Given the description of an element on the screen output the (x, y) to click on. 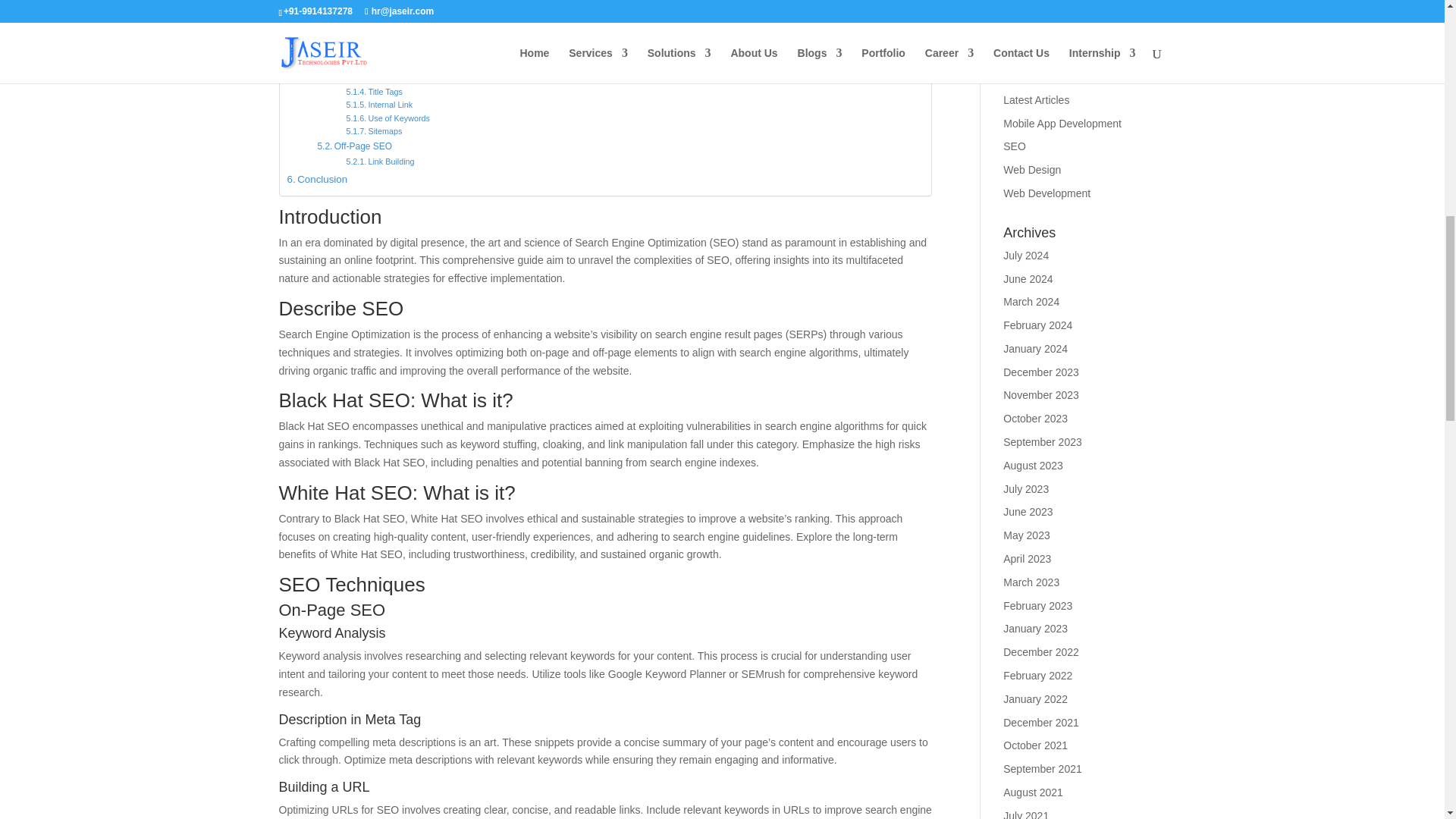
Keyword Analysis (388, 52)
White Hat SEO: What is it? (351, 6)
Internal Link (379, 104)
Building a URL (384, 78)
Description in Meta Tag (399, 65)
Title Tags (374, 91)
On-Page SEO (354, 37)
SEO Techniques (329, 20)
White Hat SEO: What is it? (351, 6)
